Given the description of an element on the screen output the (x, y) to click on. 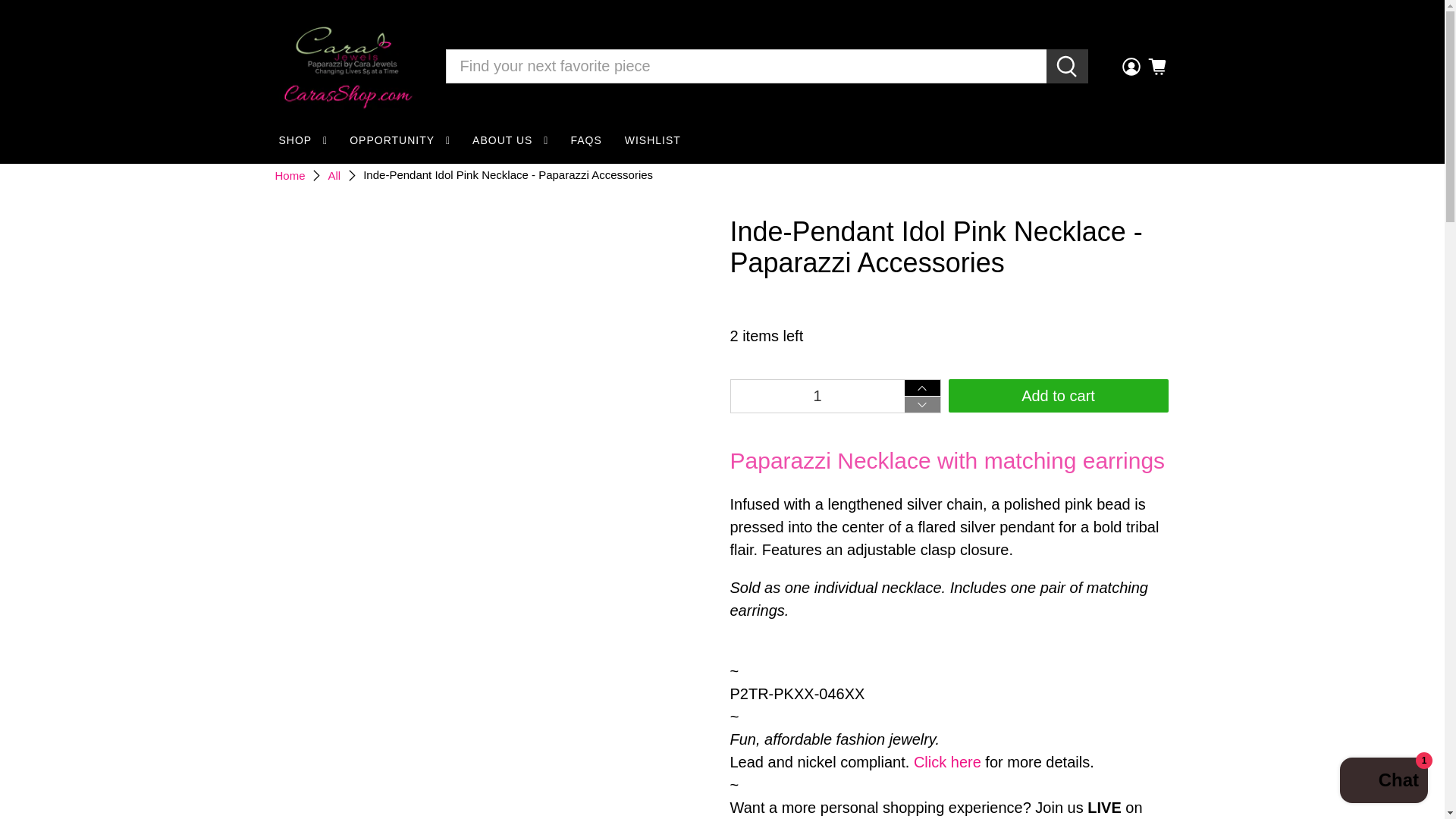
1 (816, 396)
SHOP (301, 140)
What is Paparazzi Jewelry made of? (947, 761)
